Given the description of an element on the screen output the (x, y) to click on. 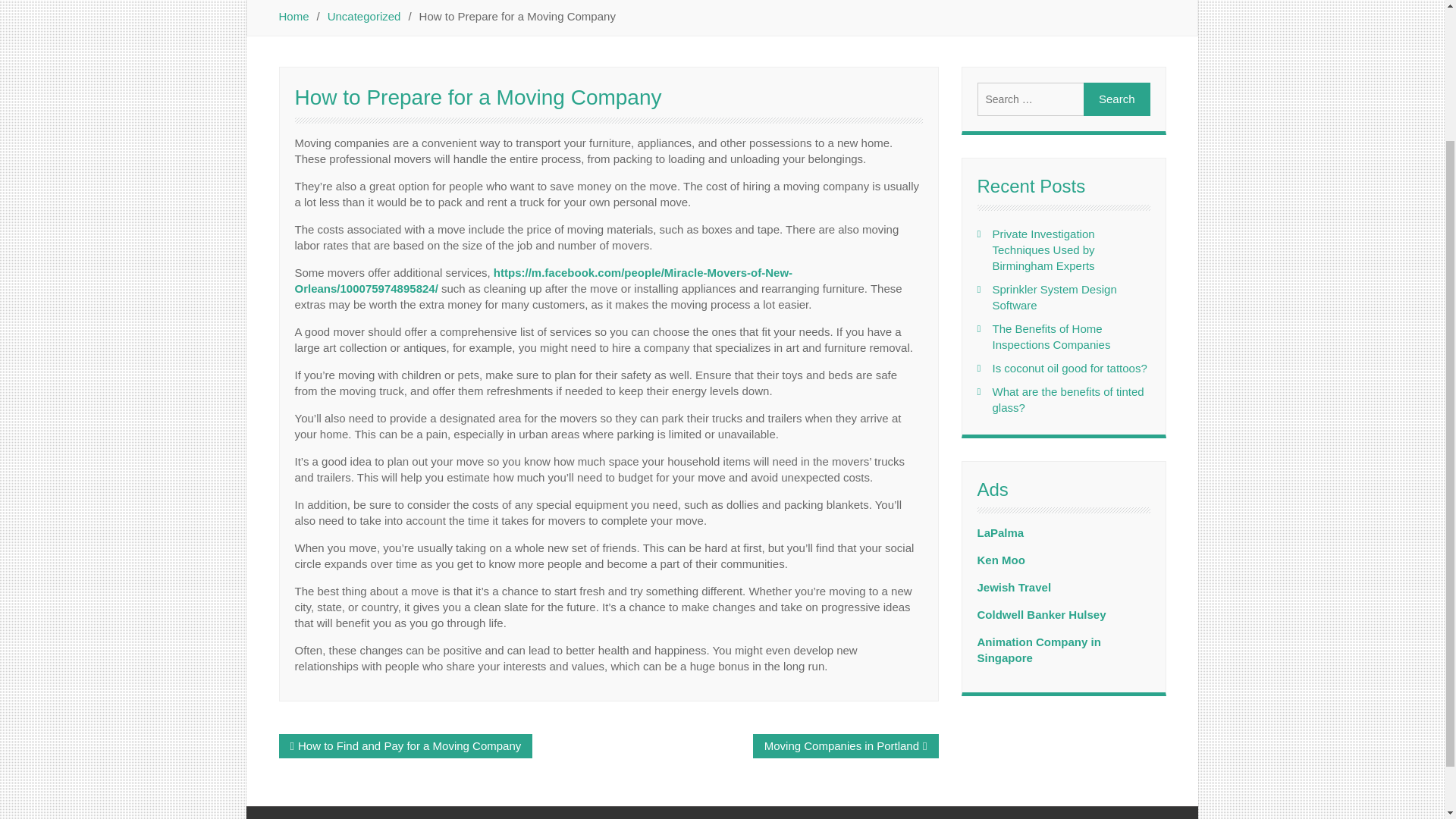
What are the benefits of tinted glass? (1066, 399)
Search (1116, 99)
Home (293, 15)
Sprinkler System Design Software (1053, 297)
Search (1116, 99)
Private Investigation Techniques Used by Birmingham Experts (1042, 249)
LaPalma (999, 532)
The Benefits of Home Inspections Companies (1050, 336)
Moving Companies in Portland (841, 745)
Uncategorized (364, 15)
